Given the description of an element on the screen output the (x, y) to click on. 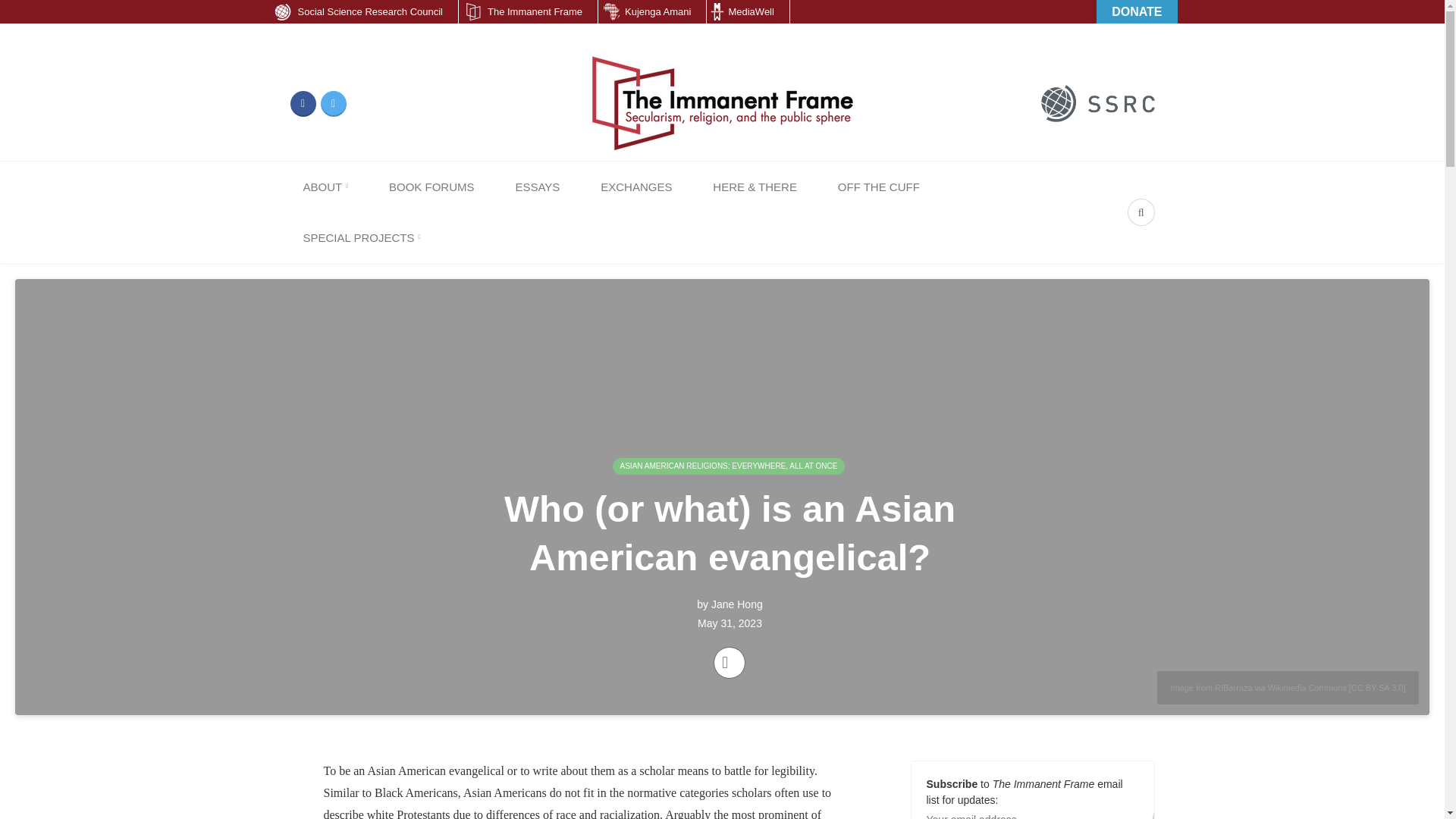
Kujenga Amani (652, 11)
MediaWell (747, 11)
EXCHANGES (635, 186)
The Social Science Research Council (1097, 102)
The Social Science Research Council (1097, 103)
Kujenga Amani (652, 11)
SPECIAL PROJECTS (361, 237)
The Immanent Frame (527, 11)
The Immanent Frame (527, 11)
MediaWell (747, 11)
